Given the description of an element on the screen output the (x, y) to click on. 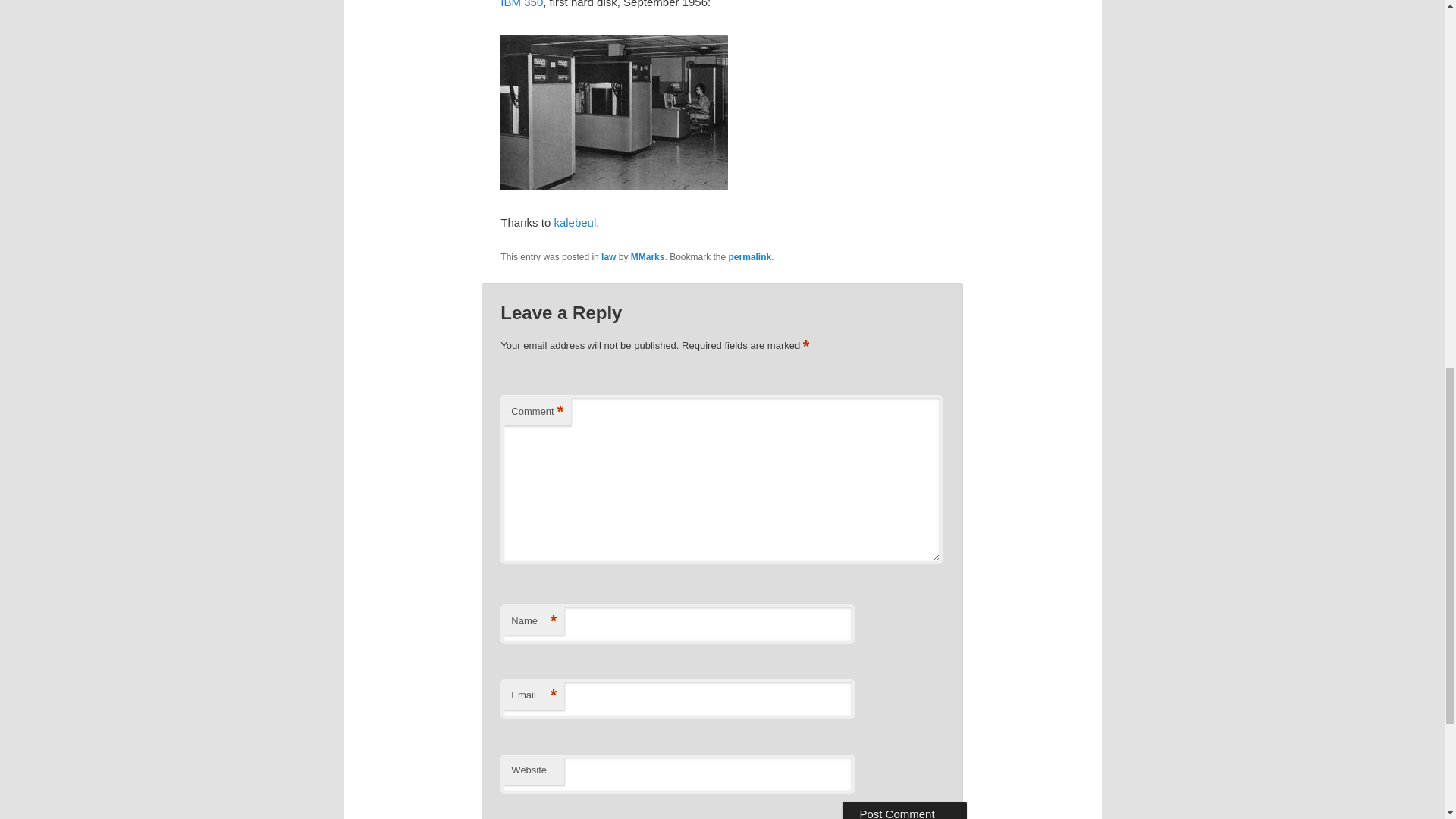
law (608, 256)
Post Comment (904, 810)
IBM 350 (521, 4)
Post Comment (904, 810)
MMarks (647, 256)
permalink (750, 256)
kalebeul (574, 222)
